Given the description of an element on the screen output the (x, y) to click on. 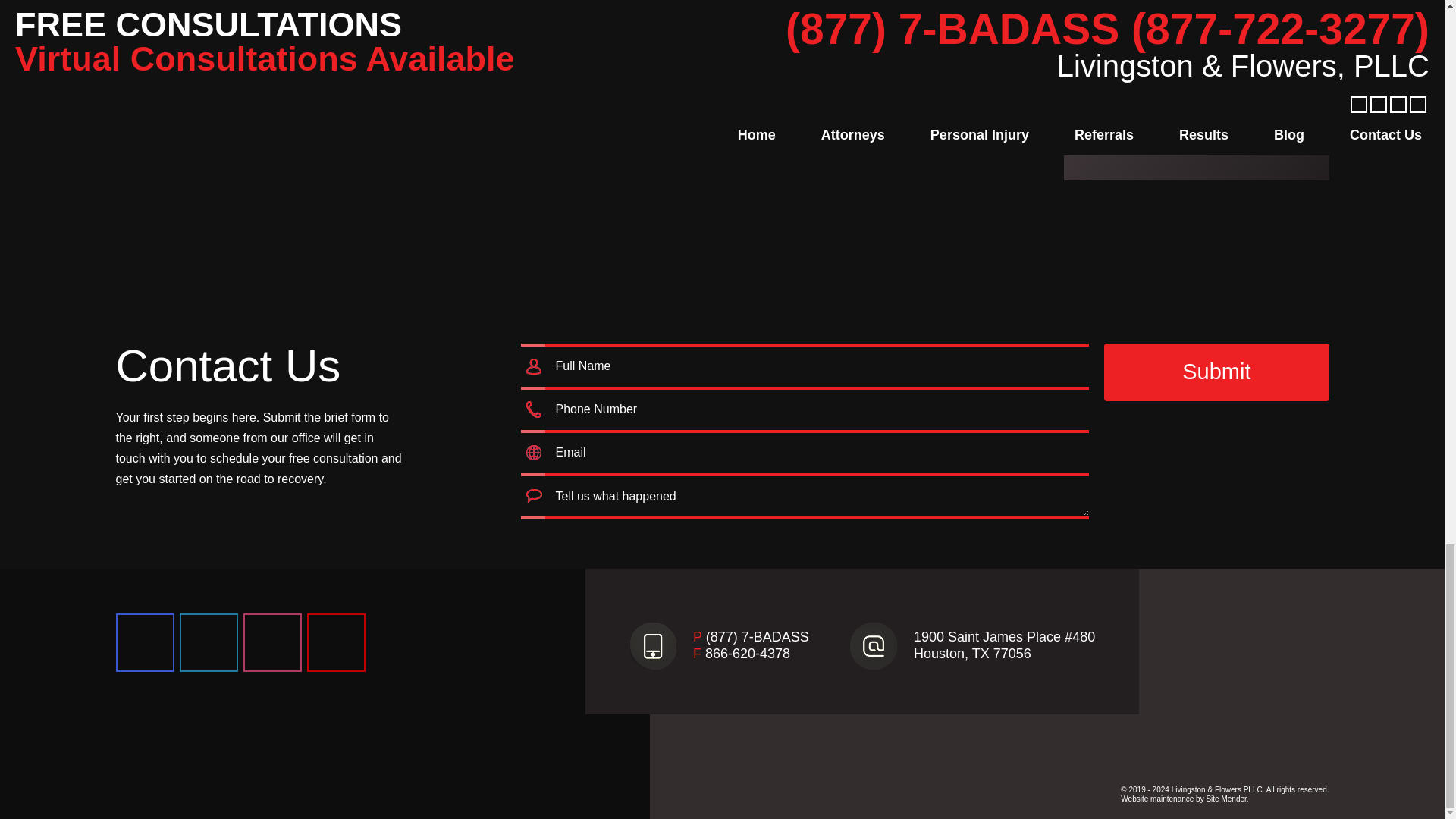
Submit (1215, 372)
